Given the description of an element on the screen output the (x, y) to click on. 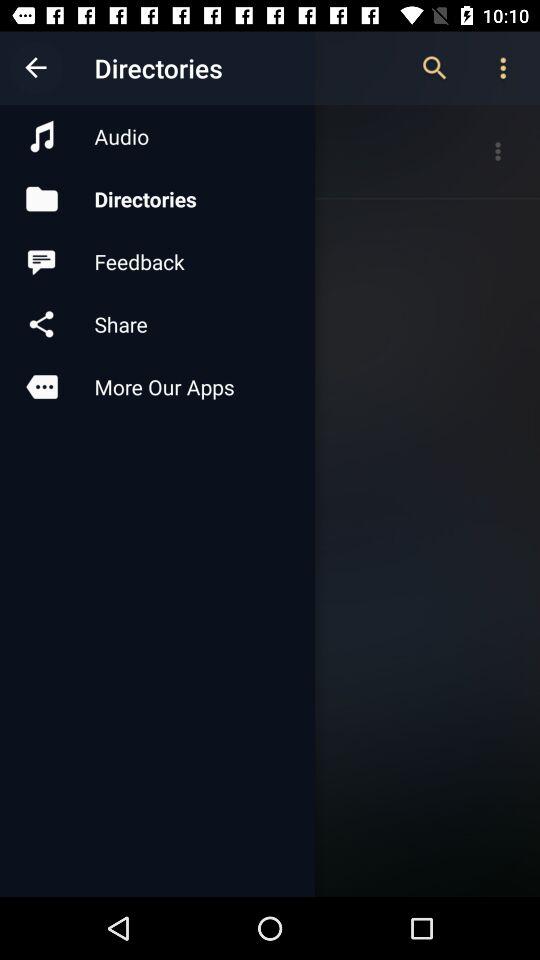
choose item above the share (157, 261)
